Given the description of an element on the screen output the (x, y) to click on. 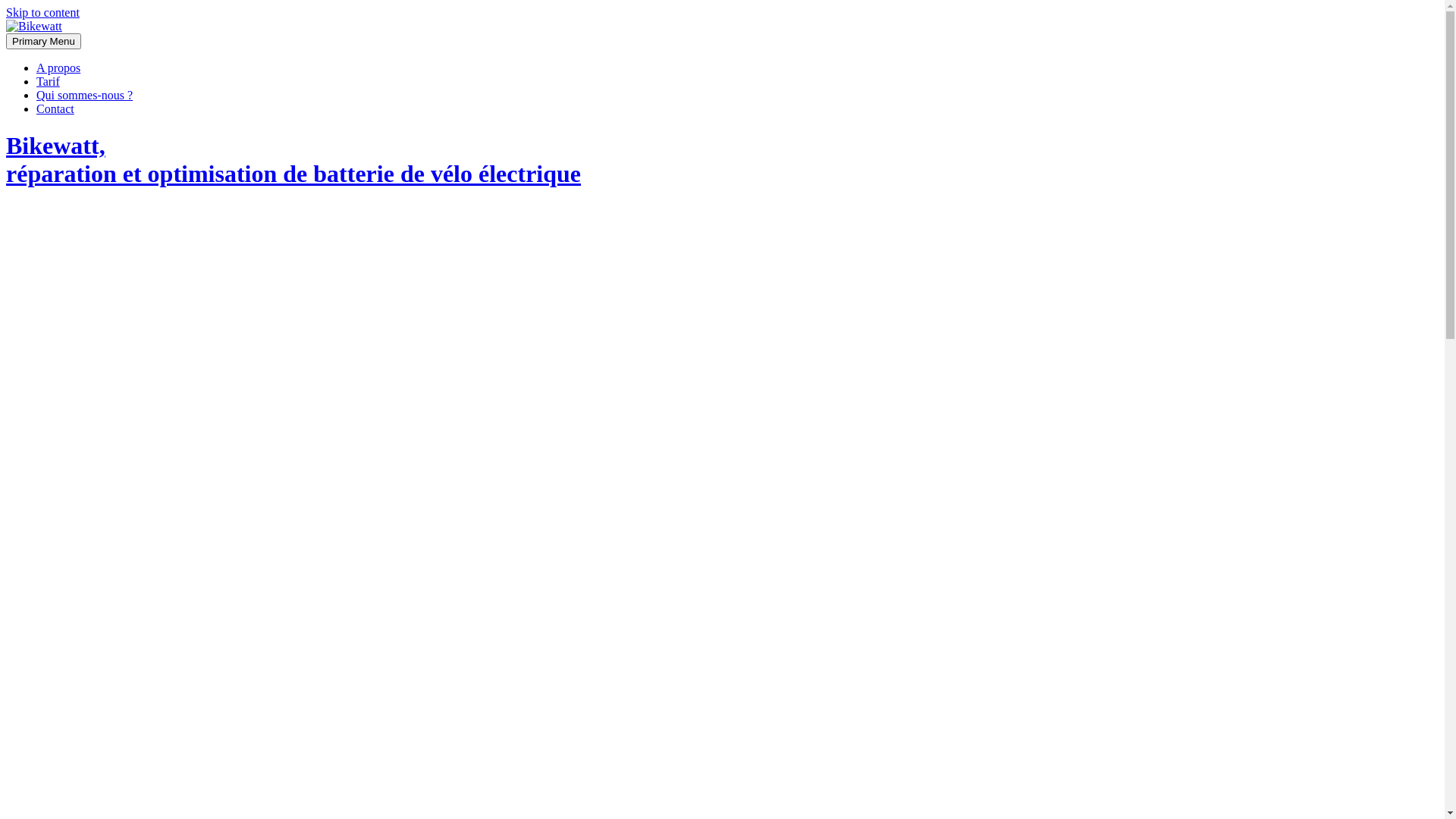
Qui sommes-nous ? Element type: text (84, 94)
Skip to content Element type: text (42, 12)
A propos Element type: text (58, 67)
Contact Element type: text (55, 108)
Primary Menu Element type: text (43, 41)
Tarif Element type: text (47, 81)
